Given the description of an element on the screen output the (x, y) to click on. 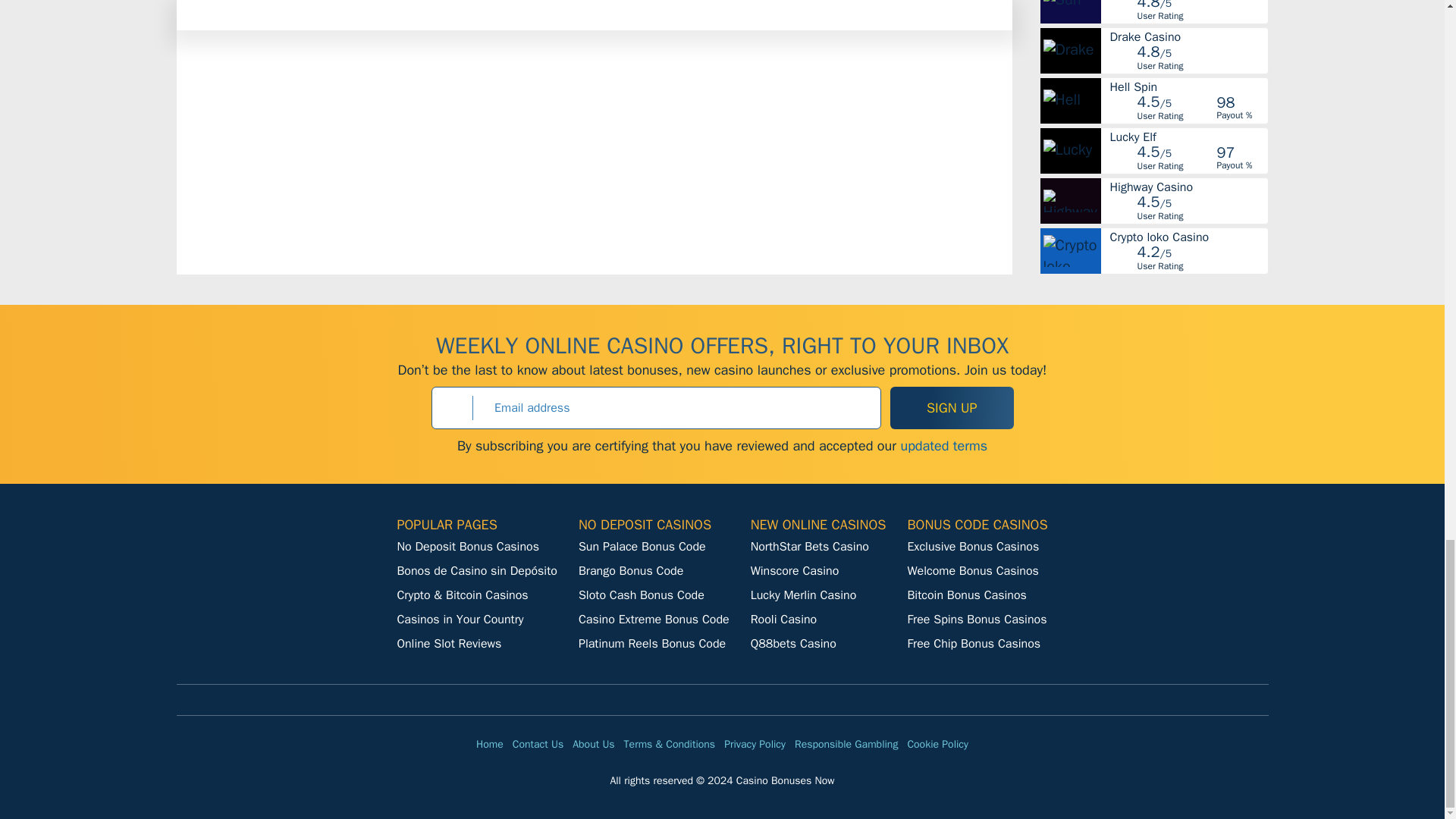
Crypto loko Casino (1187, 236)
Drake Casino (1187, 37)
Hell Spin (1187, 87)
Highway Casino (1187, 186)
Lucky Elf (1187, 137)
